Given the description of an element on the screen output the (x, y) to click on. 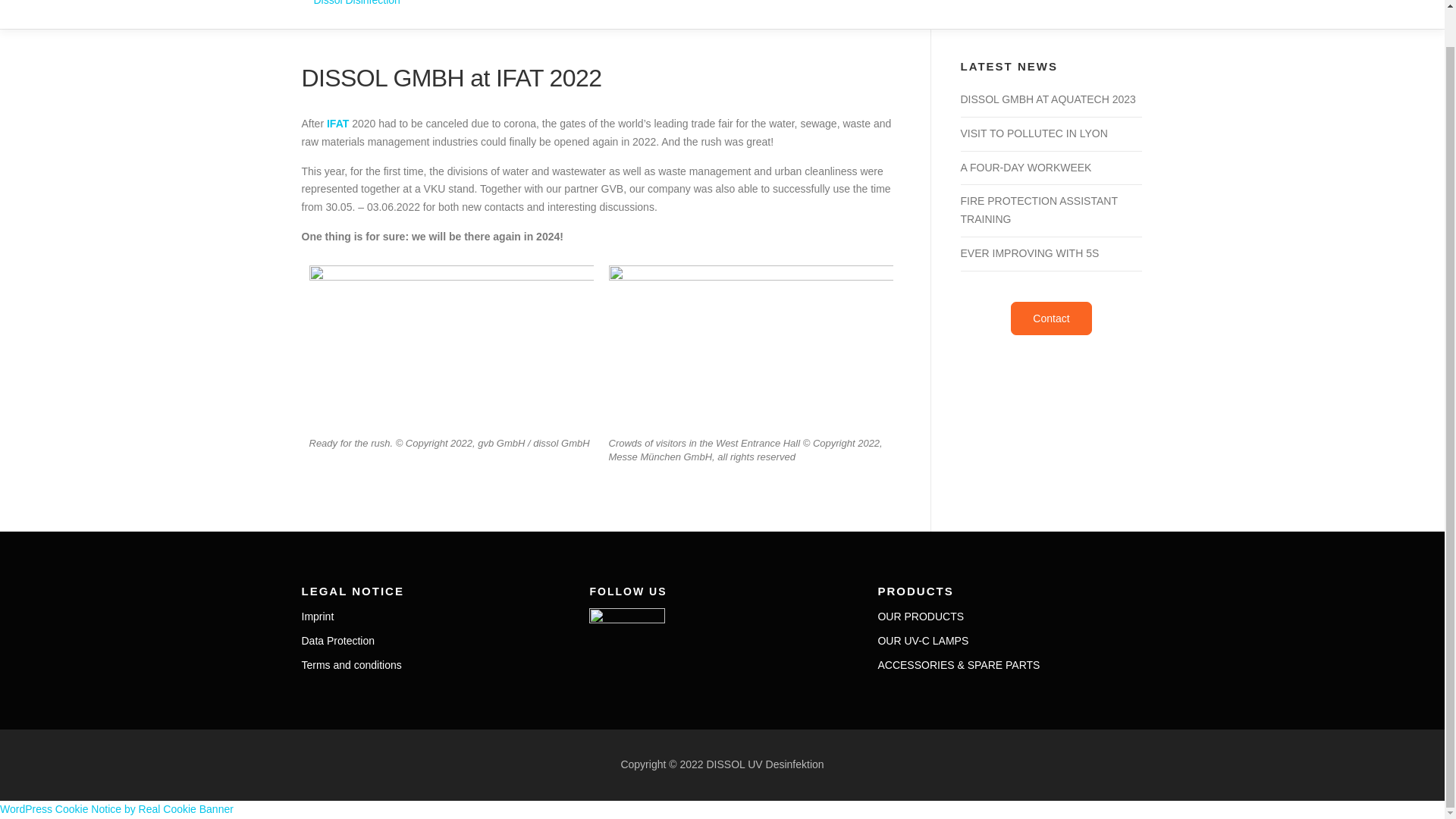
DISSOL GMBH AT AQUATECH 2023 (1047, 99)
UV TECHNOLOGY (713, 9)
OUR PRODUCTS (920, 616)
Imprint (317, 616)
A FOUR-DAY WORKWEEK (1024, 167)
FIRE PROTECTION ASSISTANT TRAINING (1037, 209)
Terms and conditions (351, 664)
OUR PRODUCTS (831, 9)
ABOUT US (611, 9)
GALLERY (928, 9)
CONTACT (1065, 9)
Follow us (627, 619)
VISIT TO POLLUTEC IN LYON (1032, 133)
Data Protection (338, 640)
Contact (1050, 318)
